Given the description of an element on the screen output the (x, y) to click on. 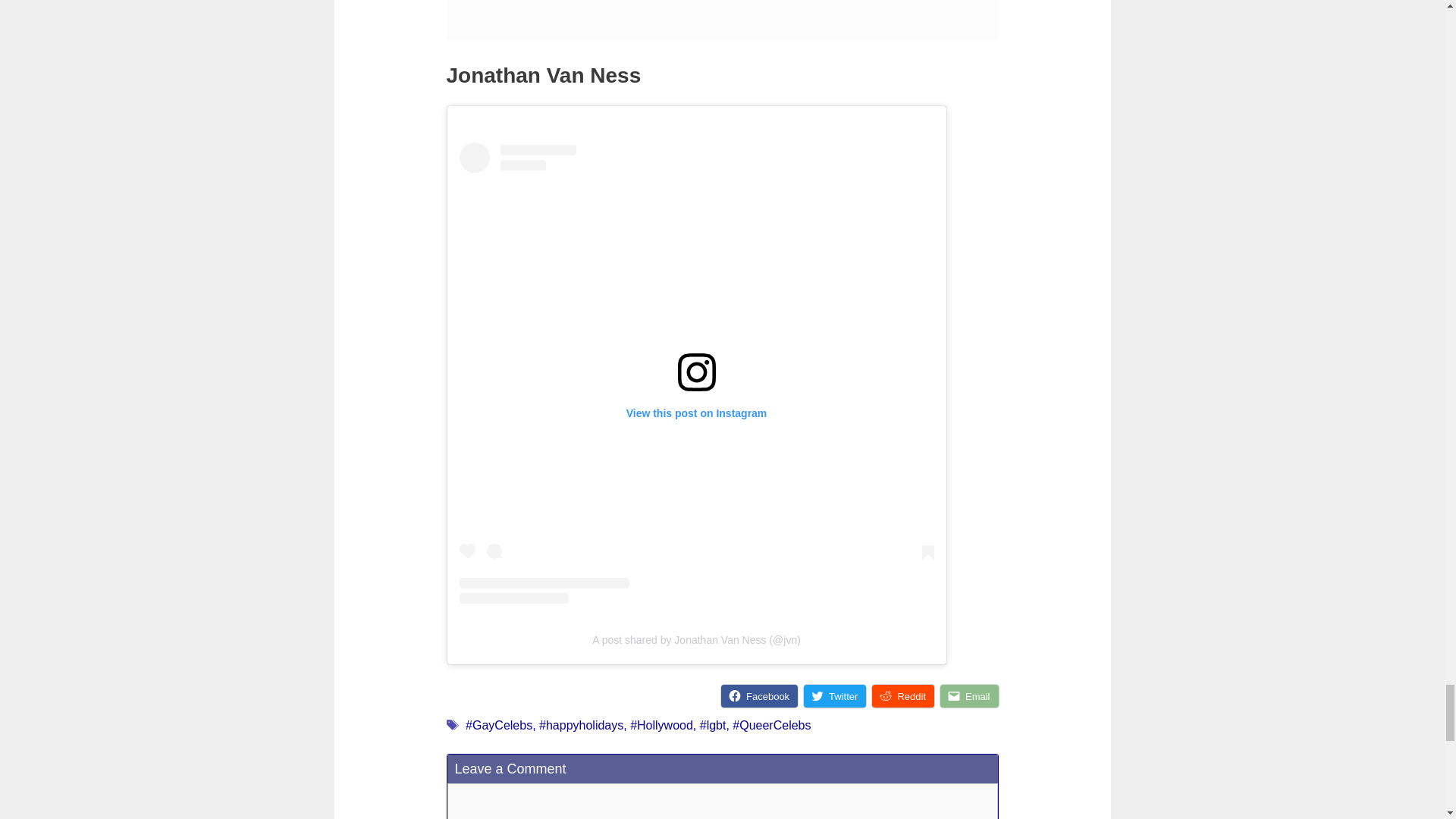
Click to share on Reddit (903, 695)
Click to email a link to a friend (969, 695)
Click to share on Twitter (834, 695)
Click to share on Facebook (758, 695)
